Given the description of an element on the screen output the (x, y) to click on. 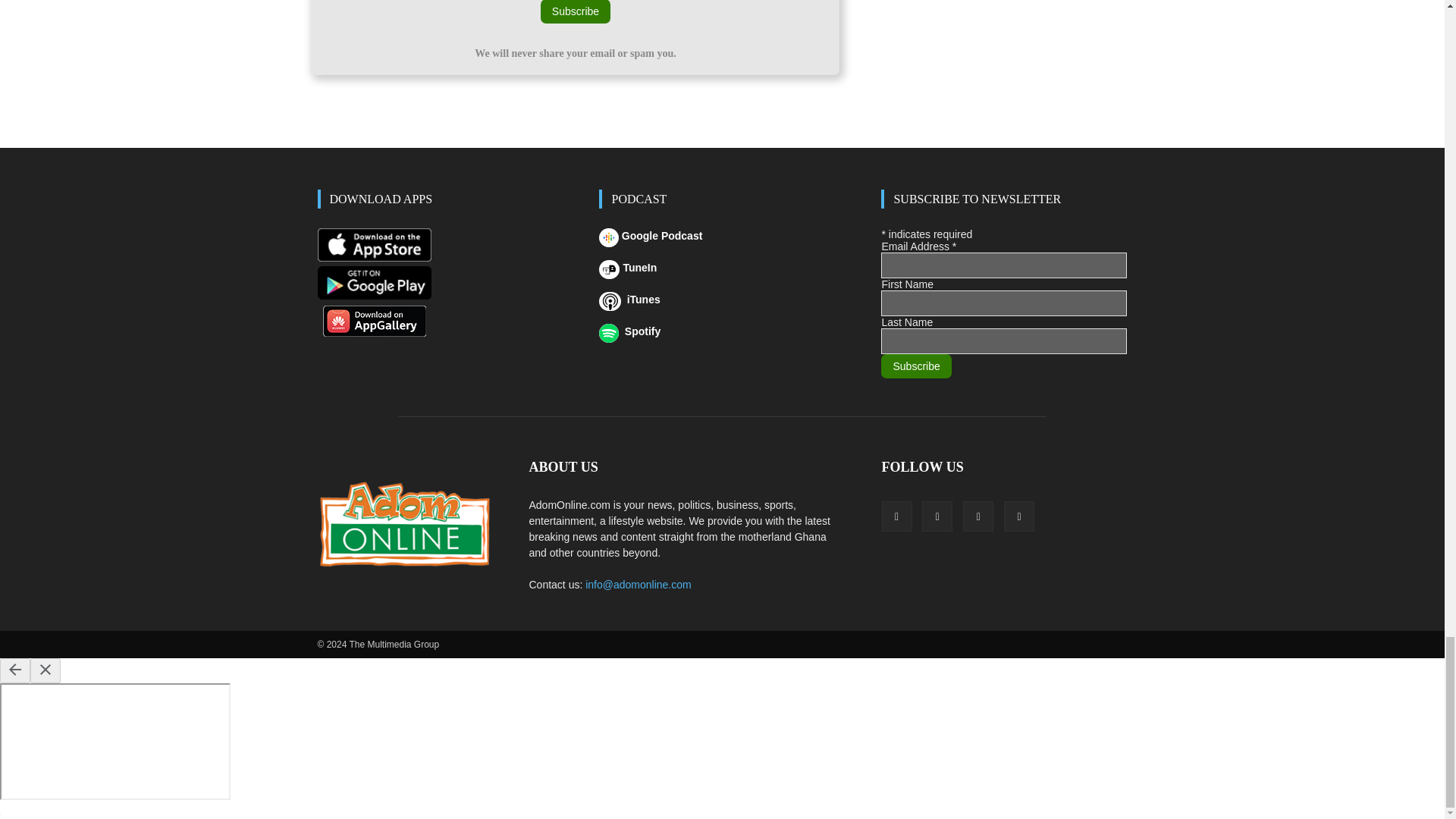
Subscribe (915, 365)
Subscribe (575, 11)
